Given the description of an element on the screen output the (x, y) to click on. 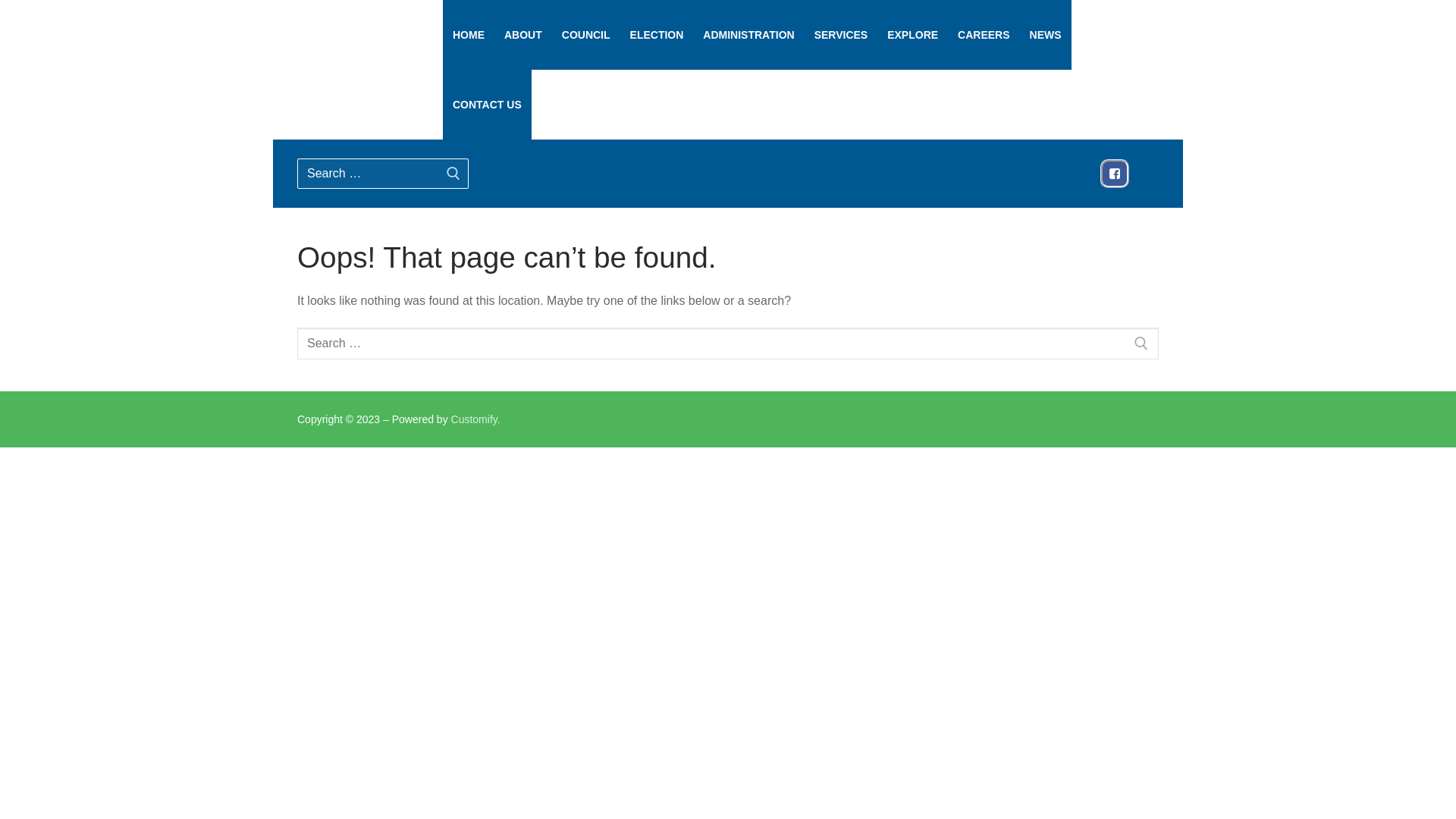
Customify Element type: text (474, 419)
ABOUT Element type: text (523, 34)
CONTACT US Element type: text (486, 104)
COUNCIL Element type: text (586, 34)
ELECTION Element type: text (656, 34)
EXPLORE Element type: text (912, 34)
NEWS Element type: text (1045, 34)
Search for: Element type: hover (382, 173)
HOME Element type: text (468, 34)
Search for: Element type: hover (727, 343)
CAREERS Element type: text (983, 34)
Follow us on Facebook Element type: hover (1114, 173)
SERVICES Element type: text (841, 34)
Skip to content Element type: text (0, 0)
ADMINISTRATION Element type: text (748, 34)
